Given the description of an element on the screen output the (x, y) to click on. 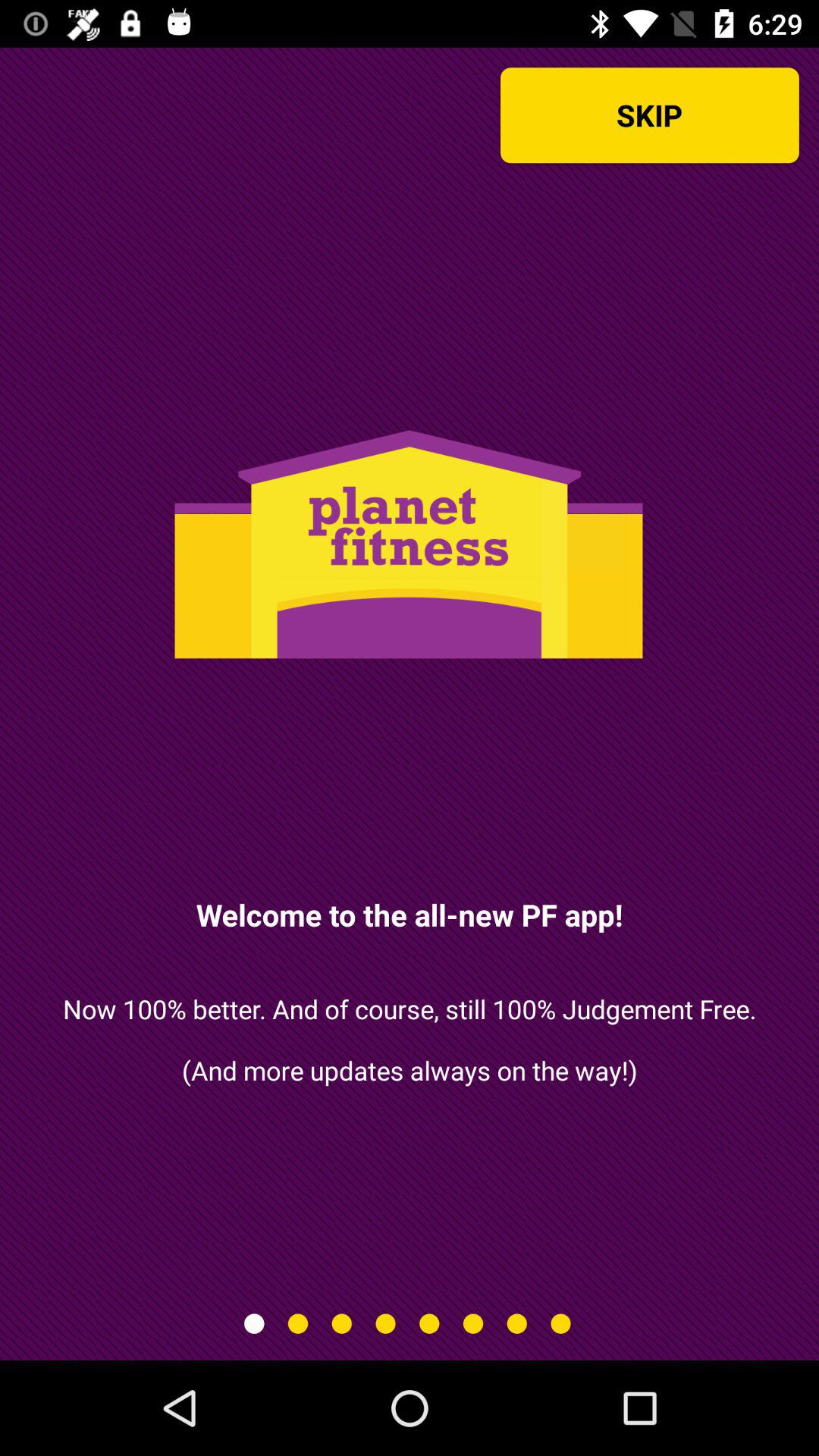
click the skip item (649, 115)
